Given the description of an element on the screen output the (x, y) to click on. 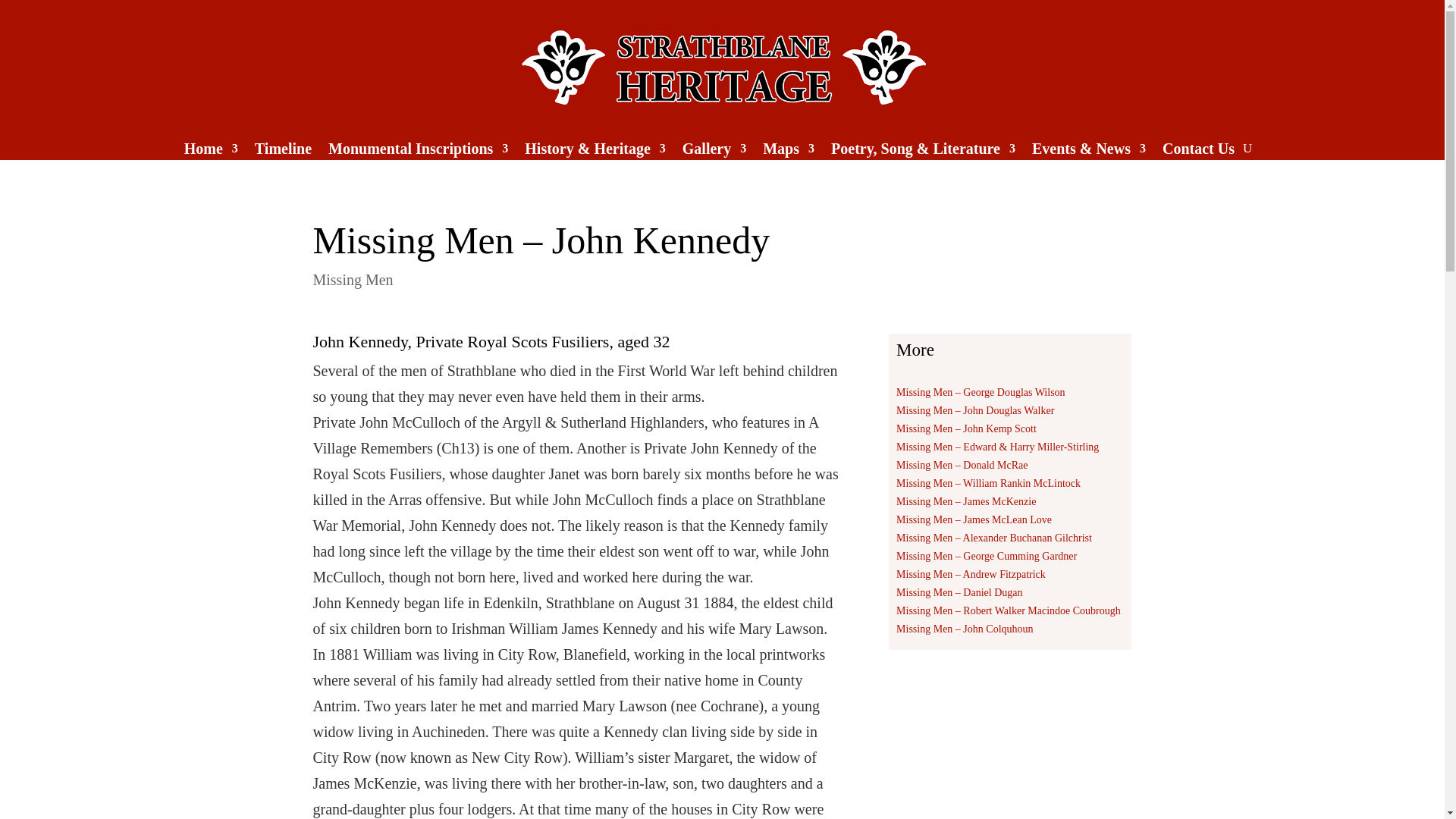
Monumental Inscriptions (418, 151)
Home (211, 151)
Contact Us (1197, 151)
Missing Men (353, 279)
Gallery (713, 151)
Timeline (282, 151)
logo-v1.2-1000 (722, 68)
Maps (787, 151)
